Given the description of an element on the screen output the (x, y) to click on. 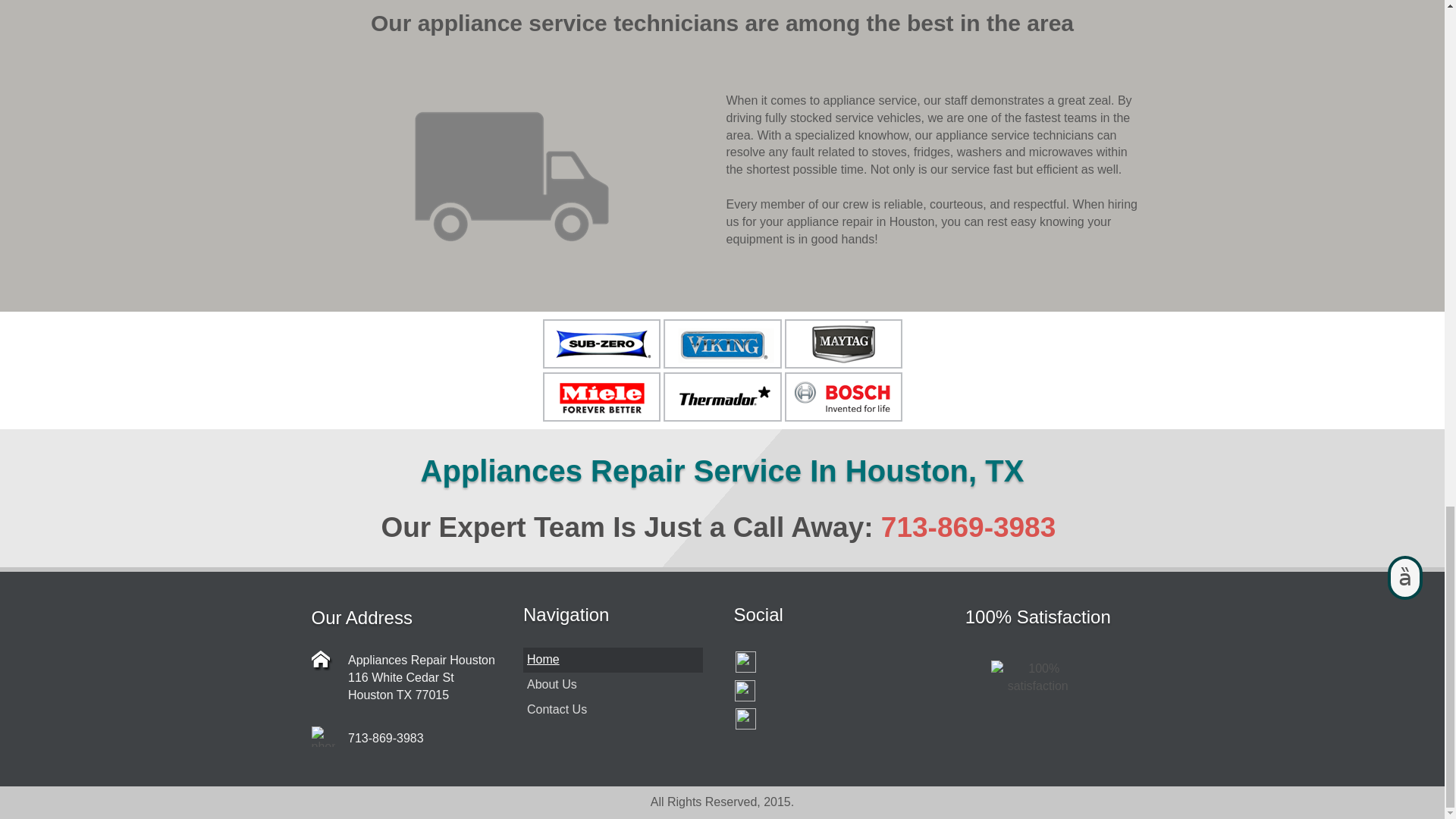
713-869-3983 (967, 526)
Contact Us (612, 709)
Home (612, 659)
About Us (612, 684)
